Given the description of an element on the screen output the (x, y) to click on. 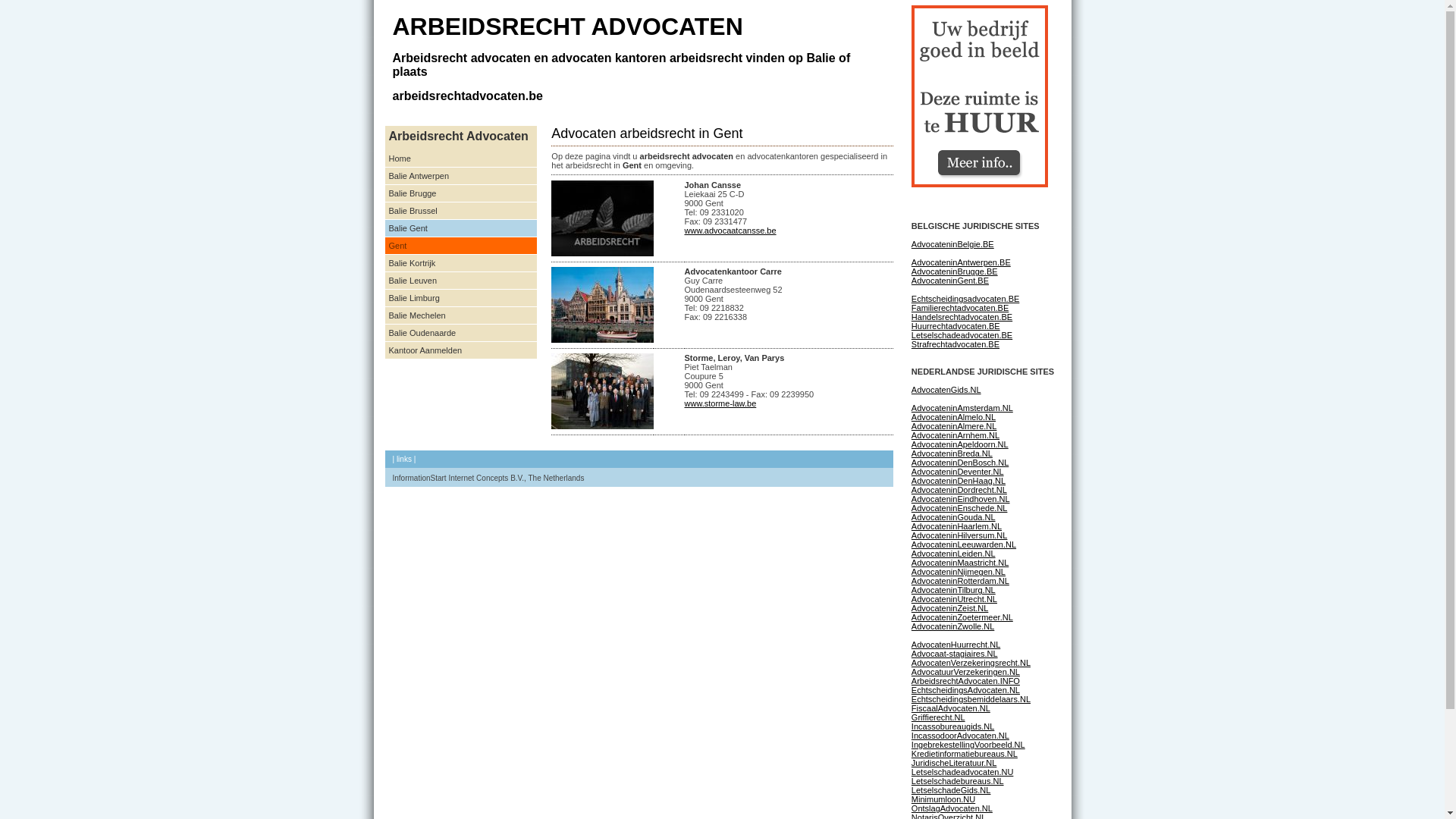
AdvocateninTilburg.NL Element type: text (953, 589)
AdvocateninBelgie.BE Element type: text (952, 243)
IncassodoorAdvocaten.NL Element type: text (960, 735)
Balie Brugge Element type: text (460, 193)
Huurrechtadvocaten.BE Element type: text (955, 325)
AdvocateninBrugge.BE Element type: text (954, 271)
Balie Leuven Element type: text (460, 280)
EchtscheidingsAdvocaten.NL Element type: text (965, 689)
Balie Mechelen Element type: text (460, 315)
AdvocateninDenHaag.NL Element type: text (958, 480)
AdvocateninEindhoven.NL Element type: text (960, 498)
AdvocateninBreda.NL Element type: text (951, 453)
AdvocateninAmsterdam.NL Element type: text (962, 407)
Gent Element type: text (460, 245)
OntslagAdvocaten.NL Element type: text (951, 807)
Letselschadeadvocaten.NU Element type: text (962, 771)
AdvocatenHuurrecht.NL Element type: text (955, 644)
AdvocateninApeldoorn.NL Element type: text (959, 443)
Echtscheidingsadvocaten.BE Element type: text (965, 298)
Adverteren Element type: hover (979, 96)
AdvocateninZoetermeer.NL Element type: text (962, 616)
AdvocateninAntwerpen.BE Element type: text (960, 261)
Incassobureaugids.NL Element type: text (952, 726)
JuridischeLiteratuur.NL Element type: text (954, 762)
Griffierecht.NL Element type: text (938, 716)
IngebrekestellingVoorbeeld.NL Element type: text (968, 744)
Kredietinformatiebureaus.NL Element type: text (964, 753)
AdvocateninGent.BE Element type: text (949, 280)
AdvocateninRotterdam.NL Element type: text (960, 580)
Kantoor Aanmelden Element type: text (460, 350)
LetselschadeGids.NL Element type: text (951, 789)
FiscaalAdvocaten.NL Element type: text (950, 707)
www.advocaatcansse.be Element type: text (729, 230)
AdvocateninDeventer.NL Element type: text (957, 471)
www.storme-law.be Element type: text (720, 402)
AdvocateninLeeuwarden.NL Element type: text (963, 544)
AdvocatenGids.NL Element type: text (946, 389)
AdvocateninDenBosch.NL Element type: text (959, 462)
Strafrechtadvocaten.BE Element type: text (955, 343)
Balie Limburg Element type: text (460, 298)
Handelsrechtadvocaten.BE Element type: text (961, 316)
AdvocateninHilversum.NL Element type: text (959, 534)
Balie Brussel Element type: text (460, 210)
AdvocateninDordrecht.NL Element type: text (959, 489)
AdvocateninMaastricht.NL Element type: text (959, 562)
AdvocatenVerzekeringsrecht.NL Element type: text (970, 662)
Balie Antwerpen Element type: text (460, 176)
AdvocateninAlmelo.NL Element type: text (953, 416)
AdvocateninGouda.NL Element type: text (953, 516)
AdvocateninZwolle.NL Element type: text (952, 625)
Letselschadeadvocaten.BE Element type: text (961, 334)
AdvocateninAlmere.NL Element type: text (954, 425)
AdvocateninHaarlem.NL Element type: text (956, 525)
AdvocatuurVerzekeringen.NL Element type: text (965, 671)
Balie Oudenaarde Element type: text (460, 333)
AdvocateninArnhem.NL Element type: text (955, 434)
AdvocateninNijmegen.NL Element type: text (958, 571)
Arbeidsrecht Advocaten
Home Element type: text (460, 146)
ArbeidsrechtAdvocaten.INFO Element type: text (965, 680)
AdvocateninUtrecht.NL Element type: text (954, 598)
AdvocateninZeist.NL Element type: text (949, 607)
Echtscheidingsbemiddelaars.NL Element type: text (970, 698)
Letselschadebureaus.NL Element type: text (957, 780)
Balie Kortrijk Element type: text (460, 263)
AdvocateninEnschede.NL Element type: text (959, 507)
AdvocateninLeiden.NL Element type: text (953, 553)
Advocaat-stagiaires.NL Element type: text (954, 653)
Familierechtadvocaten.BE Element type: text (959, 307)
Minimumloon.NU Element type: text (943, 798)
Balie Gent Element type: text (460, 228)
